Given the description of an element on the screen output the (x, y) to click on. 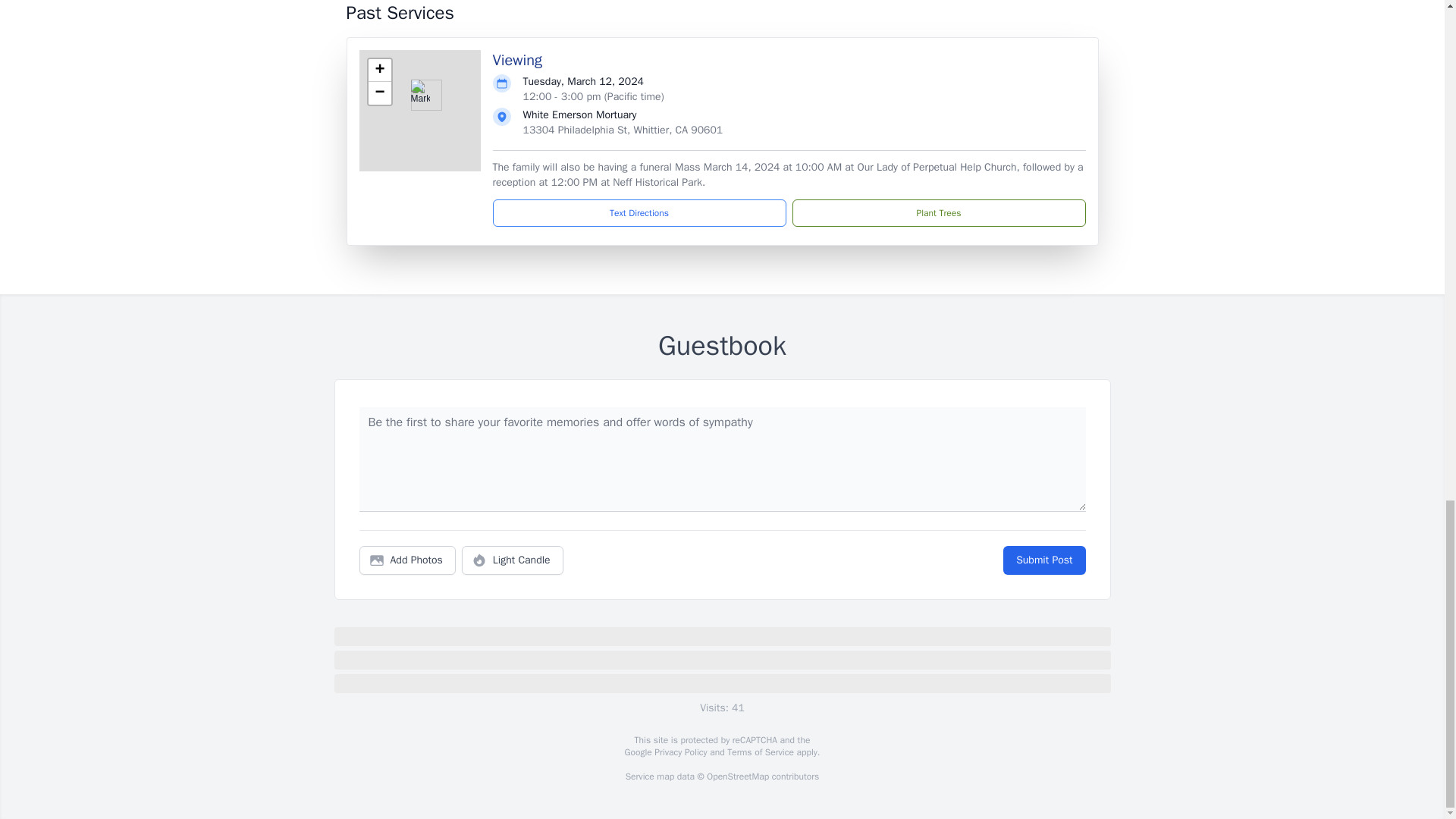
Privacy Policy (679, 752)
13304 Philadelphia St, Whittier, CA 90601 (622, 129)
Light Candle (512, 560)
OpenStreetMap (737, 776)
Text Directions (639, 212)
Zoom in (379, 69)
Plant Trees (938, 212)
Terms of Service (759, 752)
Submit Post (1043, 560)
Add Photos (407, 560)
Zoom out (379, 92)
